Given the description of an element on the screen output the (x, y) to click on. 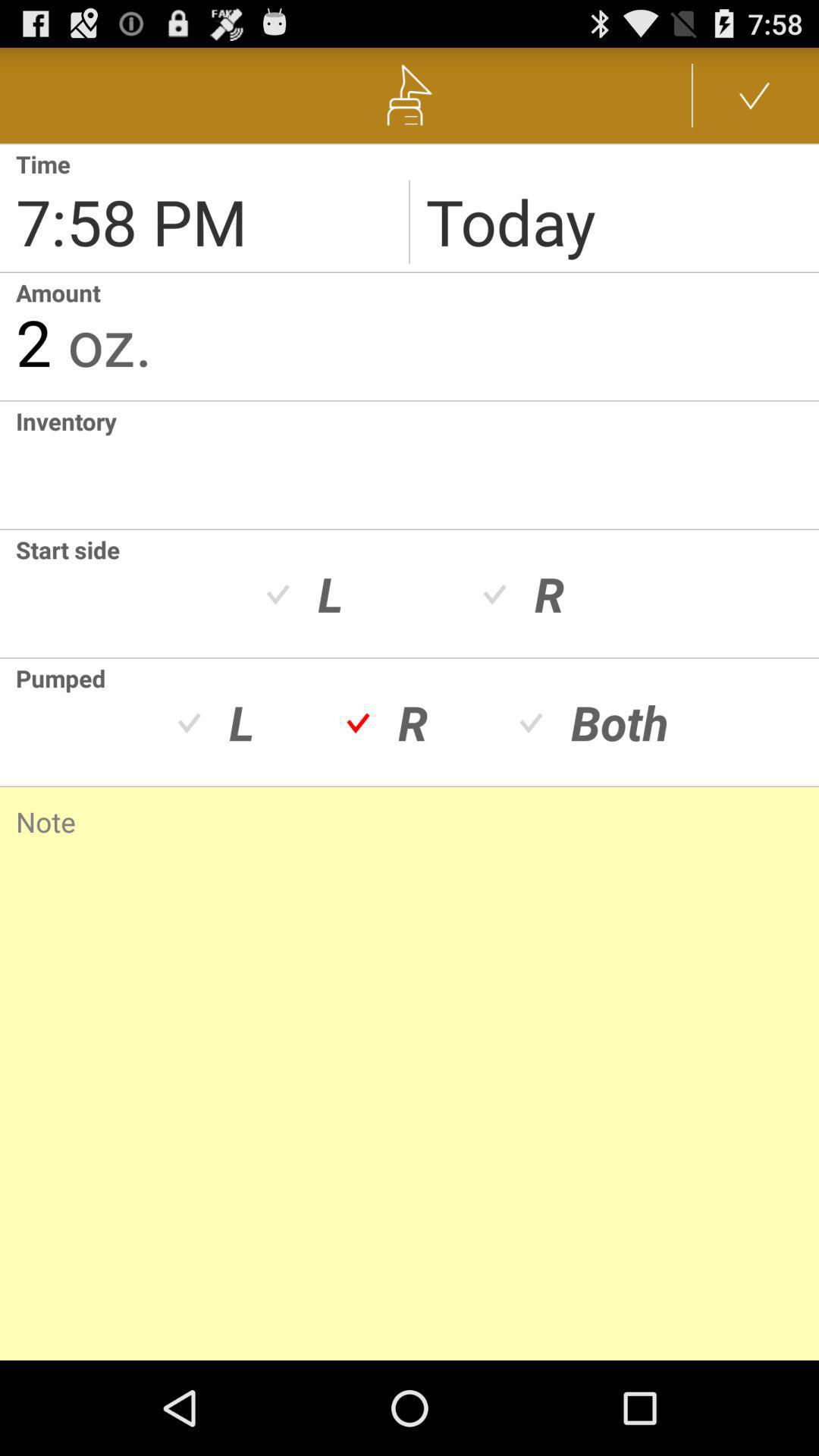
enter text (417, 464)
